Given the description of an element on the screen output the (x, y) to click on. 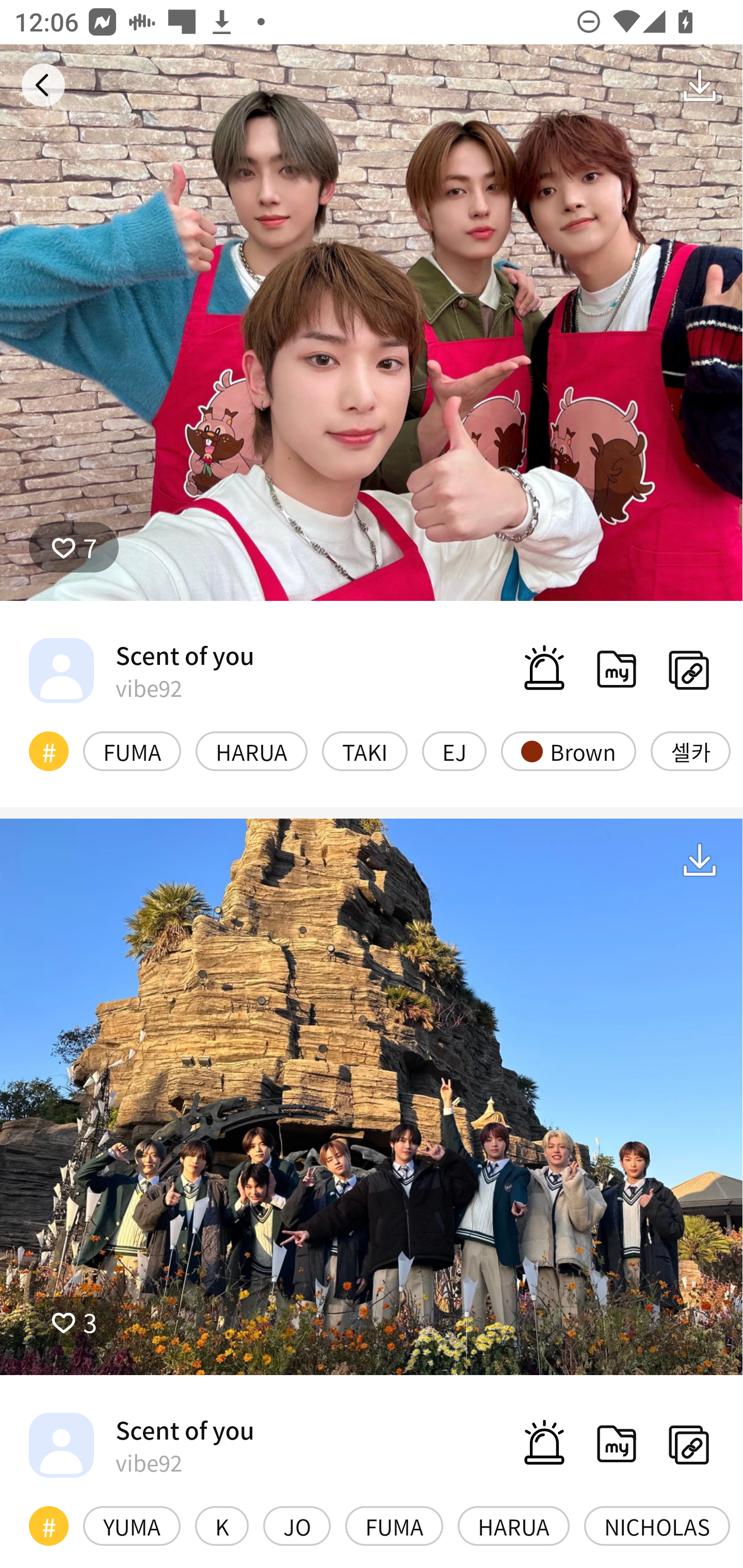
7 (371, 322)
7 (73, 547)
Scent of you vibe92 (141, 670)
FUMA (132, 750)
HARUA (251, 750)
TAKI (364, 750)
EJ (454, 750)
Brown (568, 750)
셀카 (690, 750)
3 (371, 1096)
3 (73, 1321)
Scent of you vibe92 (141, 1444)
YUMA (131, 1526)
K (221, 1526)
JO (296, 1526)
FUMA (394, 1526)
HARUA (513, 1526)
NICHOLAS (656, 1526)
